Given the description of an element on the screen output the (x, y) to click on. 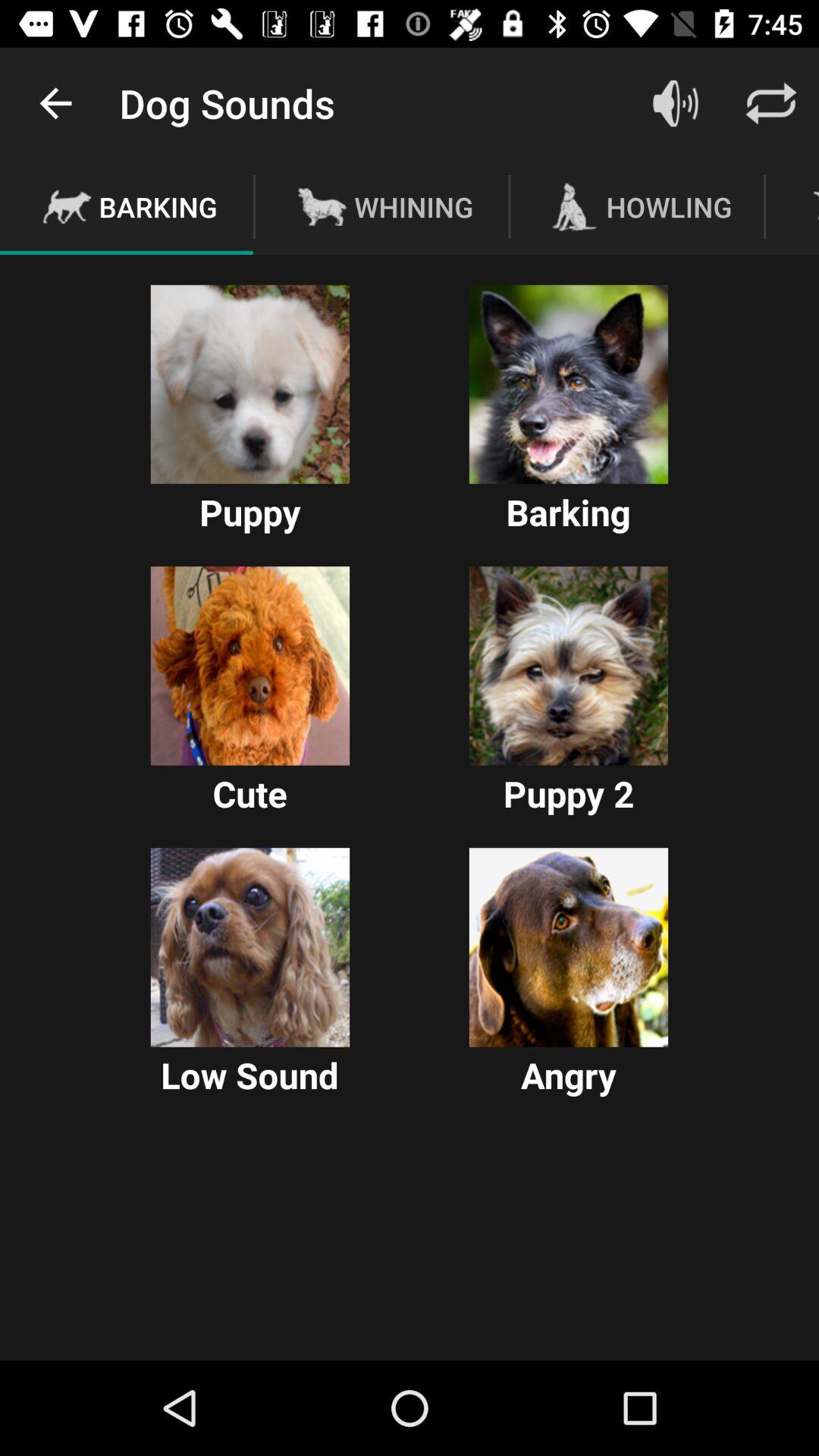
refresh screen option (771, 103)
